Given the description of an element on the screen output the (x, y) to click on. 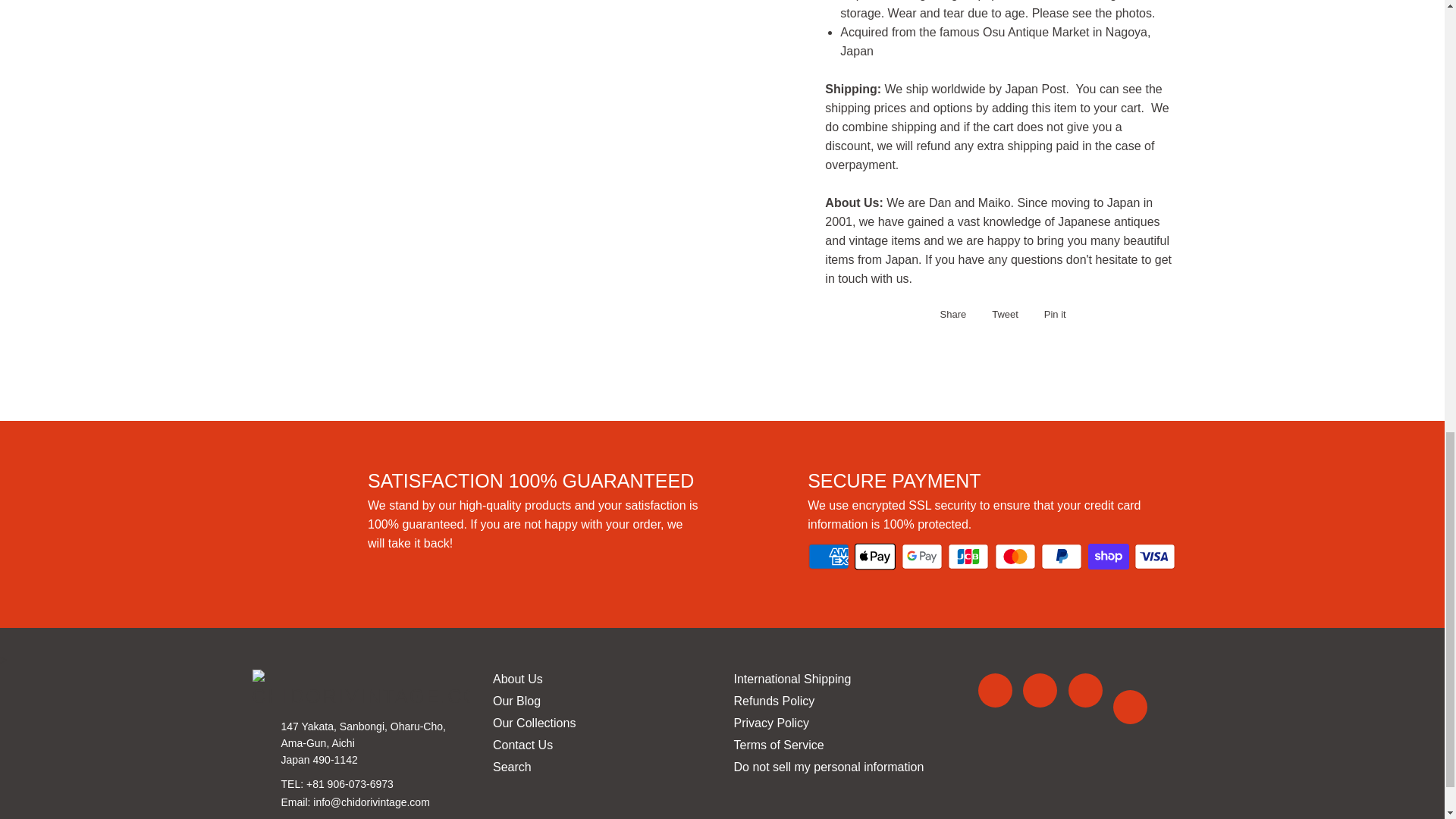
Google Pay (921, 556)
Mastercard (1014, 556)
Visa (1154, 556)
Shop Pay (1108, 556)
chidorivintage.com on Pinterest (1085, 690)
JCB (967, 556)
Share on Facebook (949, 314)
chidorivintage.com on Twitter (1040, 690)
chidorivintage.com on Facebook (994, 690)
Pin on Pinterest (1051, 314)
chidorivintage.com on Instagram (1130, 706)
Apple Pay (874, 556)
Tweet on Twitter (1001, 314)
American Express (828, 556)
PayPal (1061, 556)
